Given the description of an element on the screen output the (x, y) to click on. 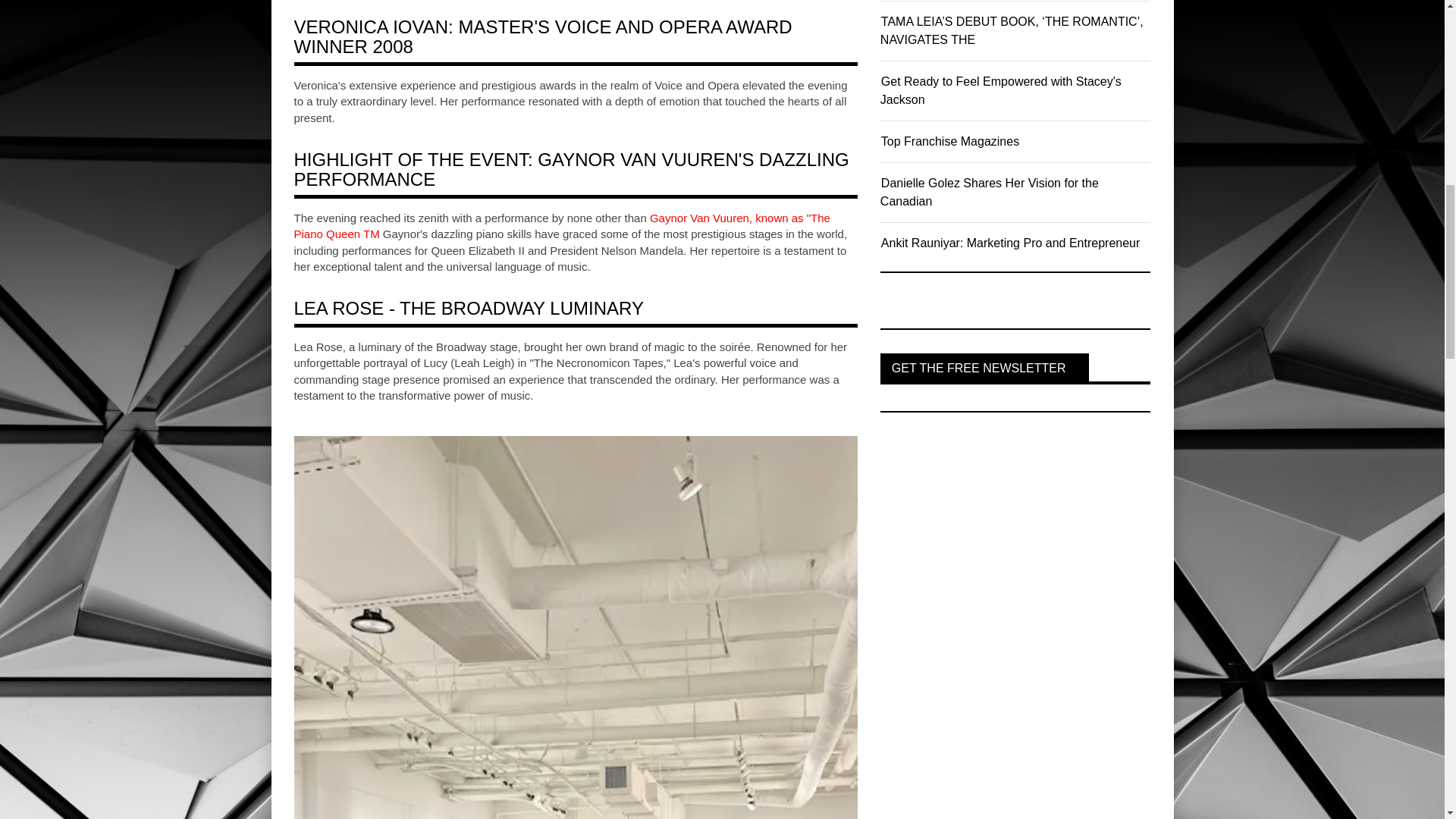
Top Franchise Magazines (949, 141)
Back to Top (1412, 30)
Top Franchise Magazines (949, 141)
Get Ready to Feel Empowered with Stacey's Jackson (1000, 90)
Gaynor Van Vuuren, known as "The Piano Queen TM (561, 225)
Ankit Rauniyar: Marketing Pro and Entrepreneur (1010, 242)
